Given the description of an element on the screen output the (x, y) to click on. 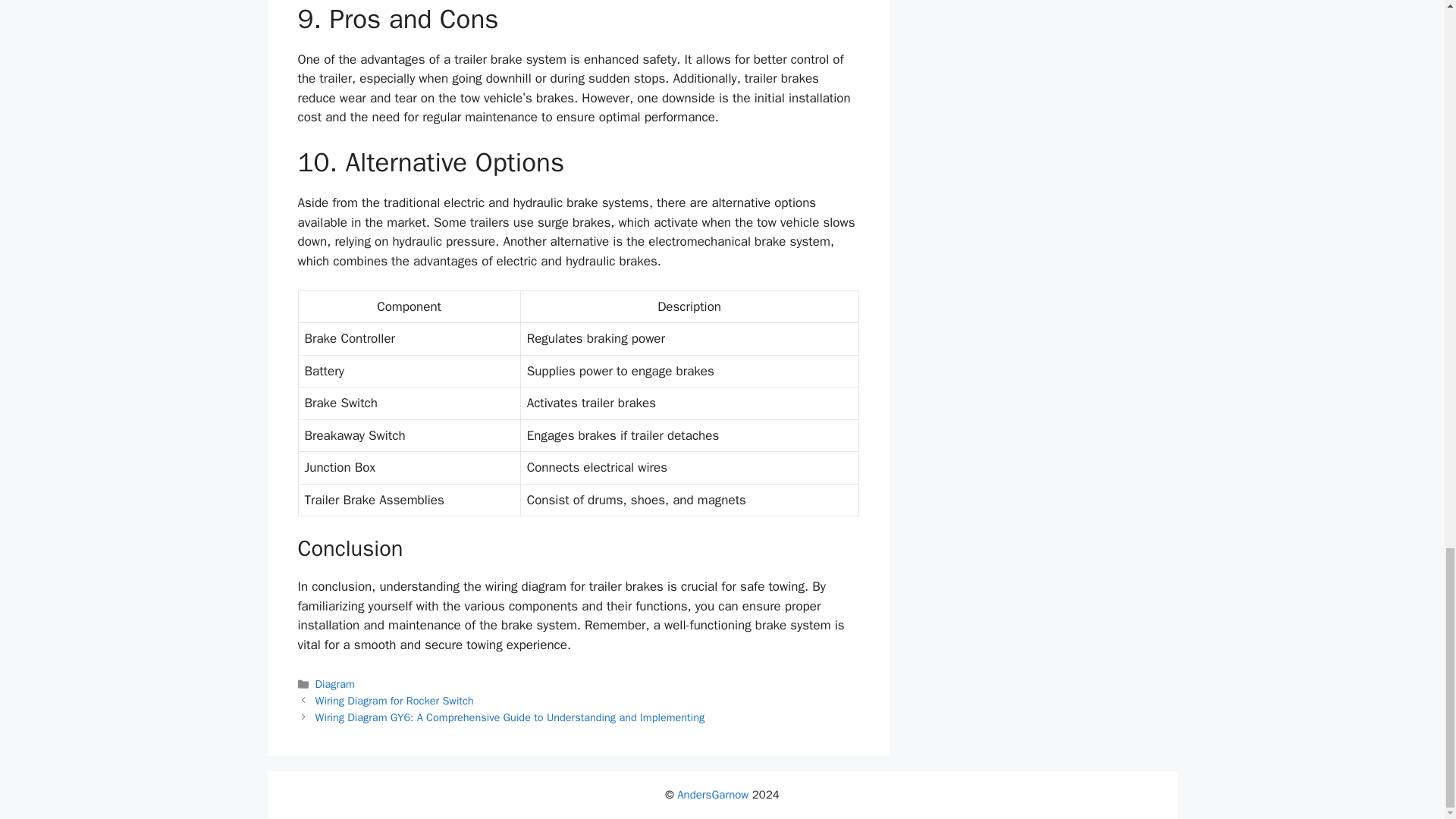
Wiring Diagram for Rocker Switch (394, 700)
Diagram (335, 684)
